Given the description of an element on the screen output the (x, y) to click on. 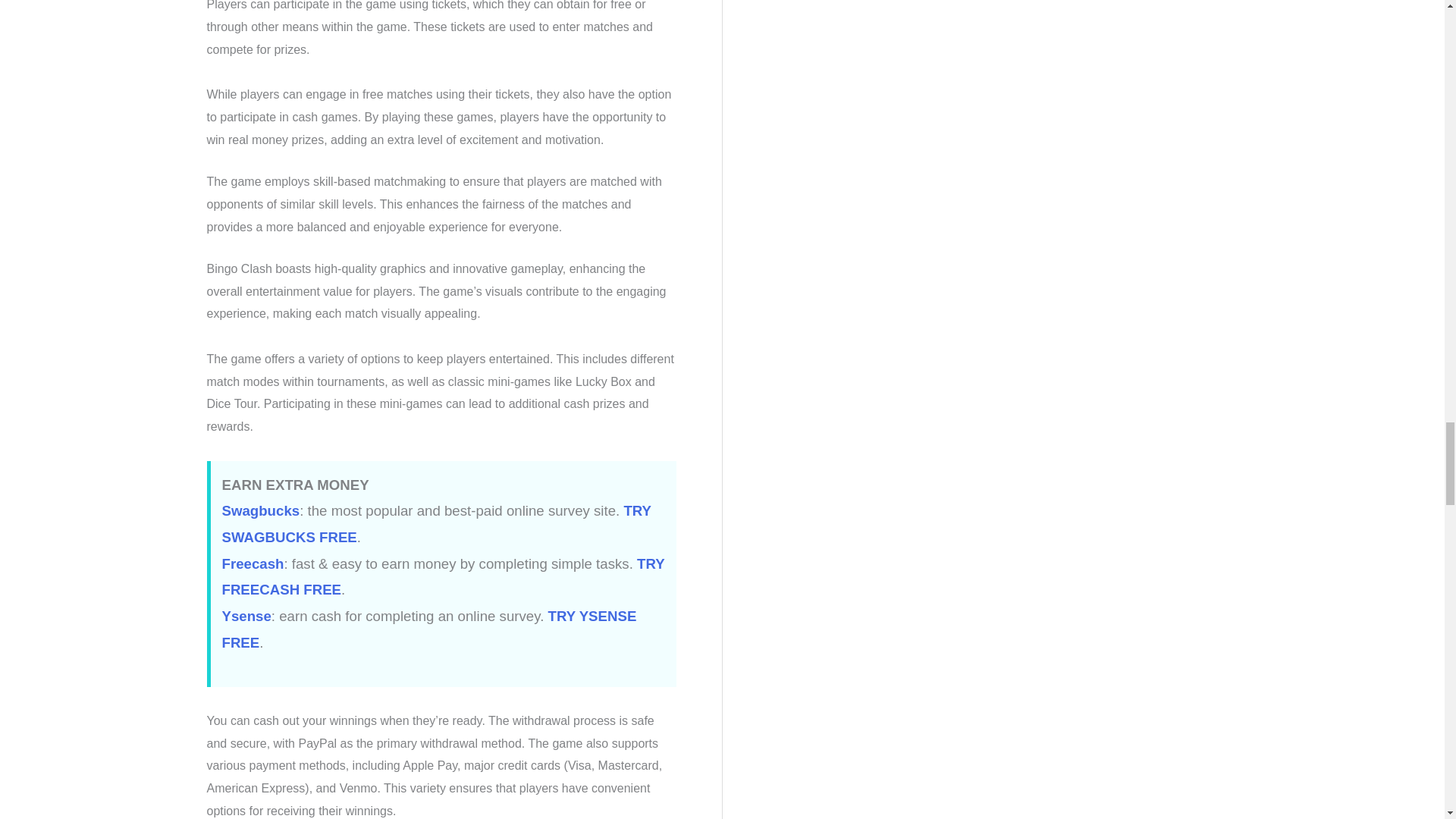
TRY FREECASH FREE (442, 577)
TRY SWAGBUCKS FREE (435, 523)
Freecash (252, 563)
Swagbucks (260, 510)
